Given the description of an element on the screen output the (x, y) to click on. 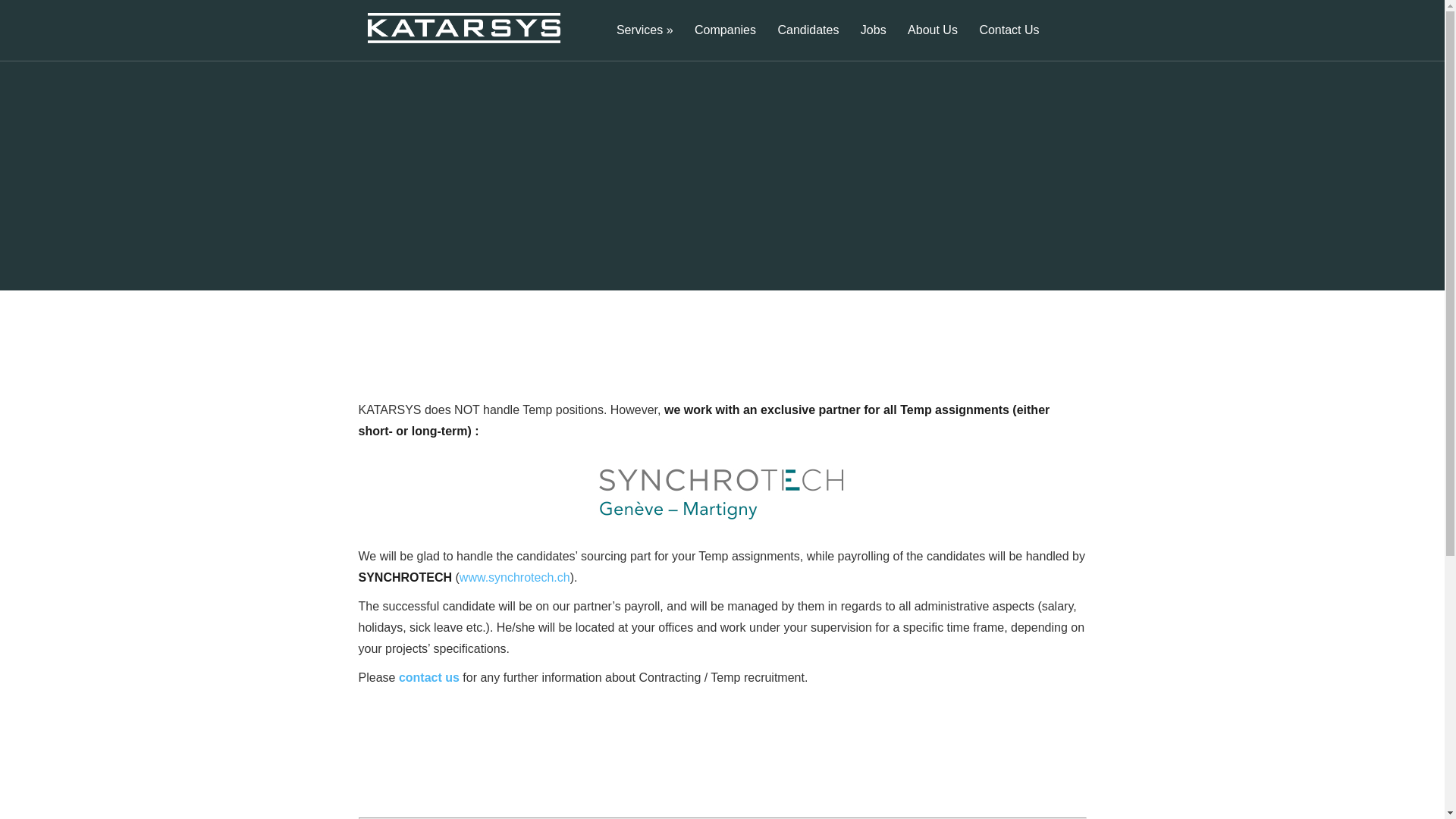
Services (644, 42)
Contact Us (1008, 42)
contact us (429, 676)
Jobs (873, 42)
Candidates (807, 42)
www.synchrotech.ch (515, 576)
About Us (932, 42)
Companies (725, 42)
